Given the description of an element on the screen output the (x, y) to click on. 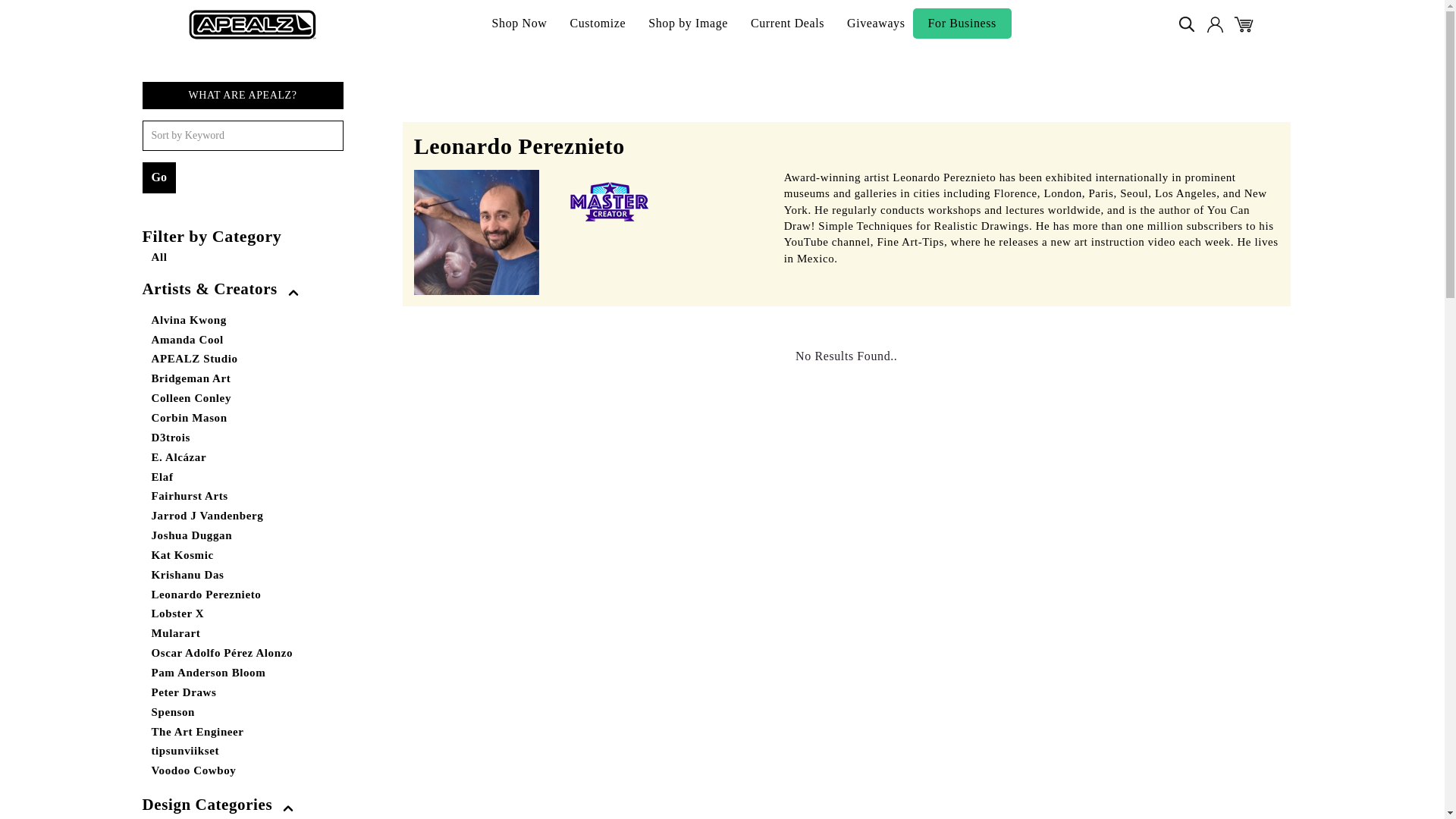
Shop Now (519, 24)
Shop Now (519, 24)
